Given the description of an element on the screen output the (x, y) to click on. 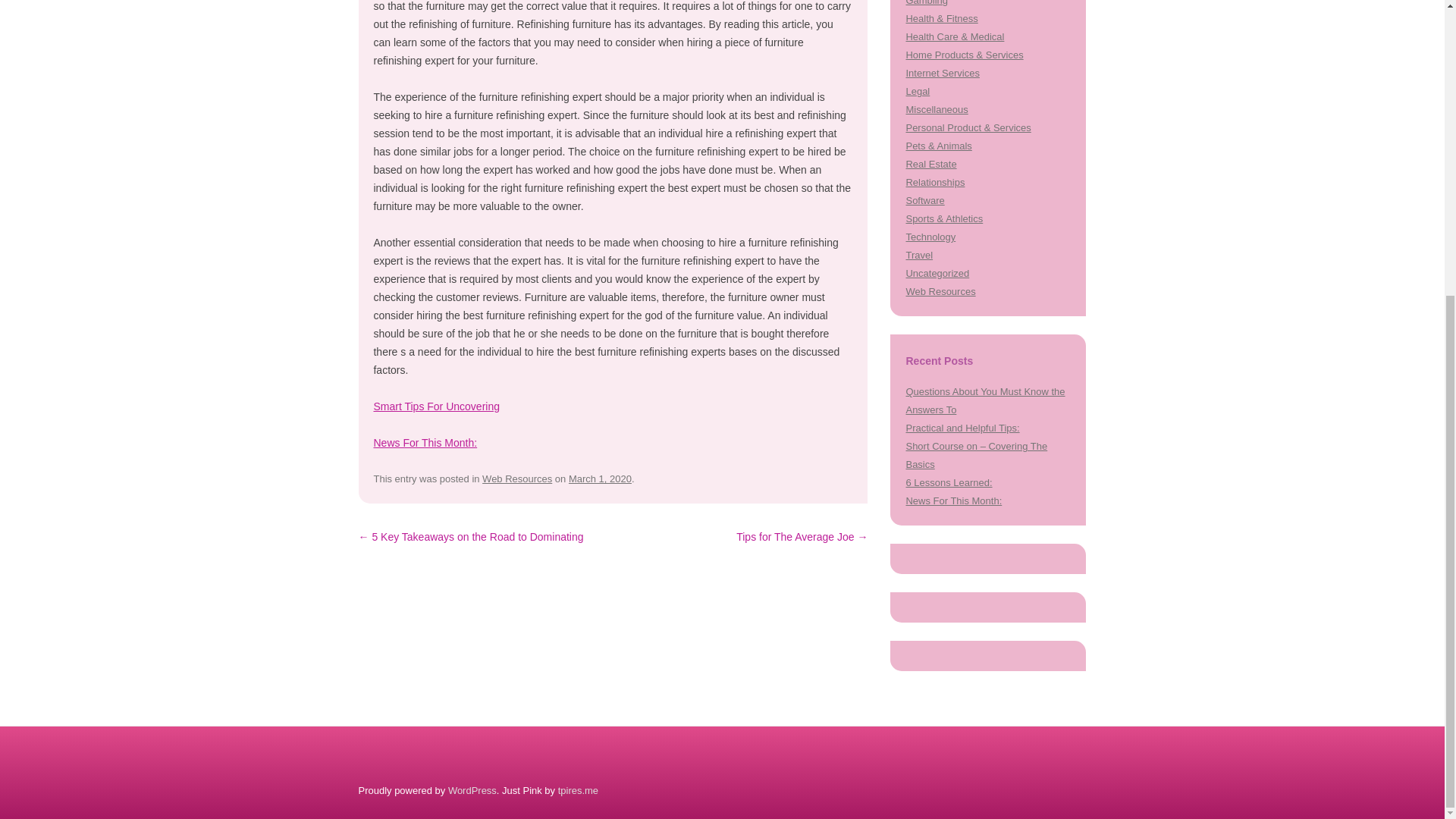
Technology (930, 236)
Relationships (934, 182)
Miscellaneous (936, 109)
March 1, 2020 (600, 478)
Legal (917, 91)
Web Resources (940, 291)
1:31 pm (600, 478)
Web Resources (516, 478)
Software (924, 200)
Travel (919, 255)
